Given the description of an element on the screen output the (x, y) to click on. 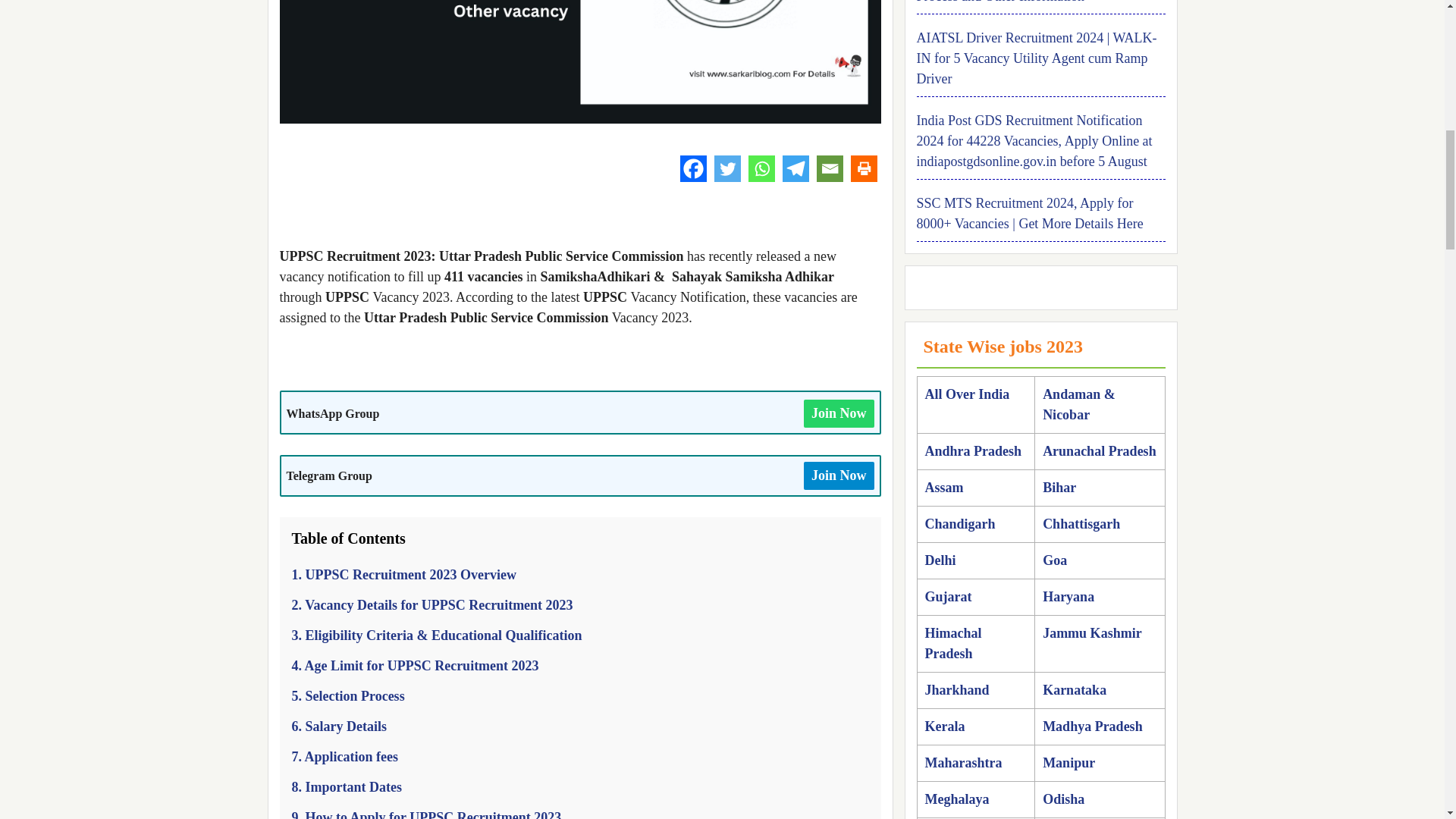
Join Now (839, 413)
Join Now (839, 475)
UPPSC Recruitment 2023 1 (579, 61)
2. Vacancy Details for UPPSC Recruitment 2023 (431, 604)
Facebook (692, 168)
7. Application fees (344, 756)
Twitter (727, 168)
6. Salary Details (339, 726)
5. Selection Process (347, 695)
1. UPPSC Recruitment 2023 Overview (403, 574)
4. Age Limit for UPPSC Recruitment 2023 (414, 665)
Whatsapp (761, 168)
